Given the description of an element on the screen output the (x, y) to click on. 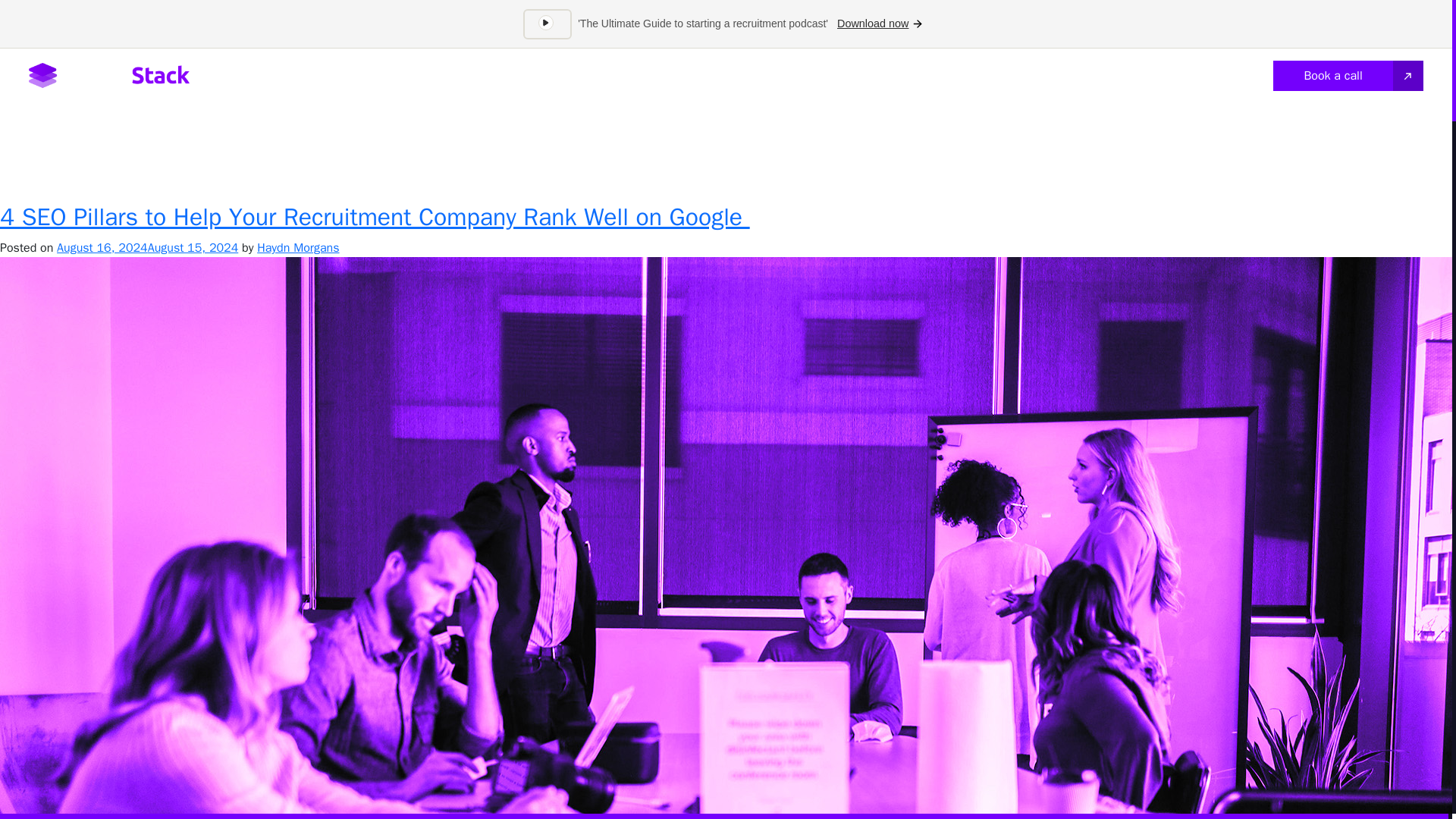
Book a call (1347, 75)
About (676, 69)
Home (612, 69)
Contact (878, 69)
Haydn Morgans (298, 247)
August 16, 2024August 15, 2024 (147, 247)
Work (738, 69)
Insights (804, 69)
